Given the description of an element on the screen output the (x, y) to click on. 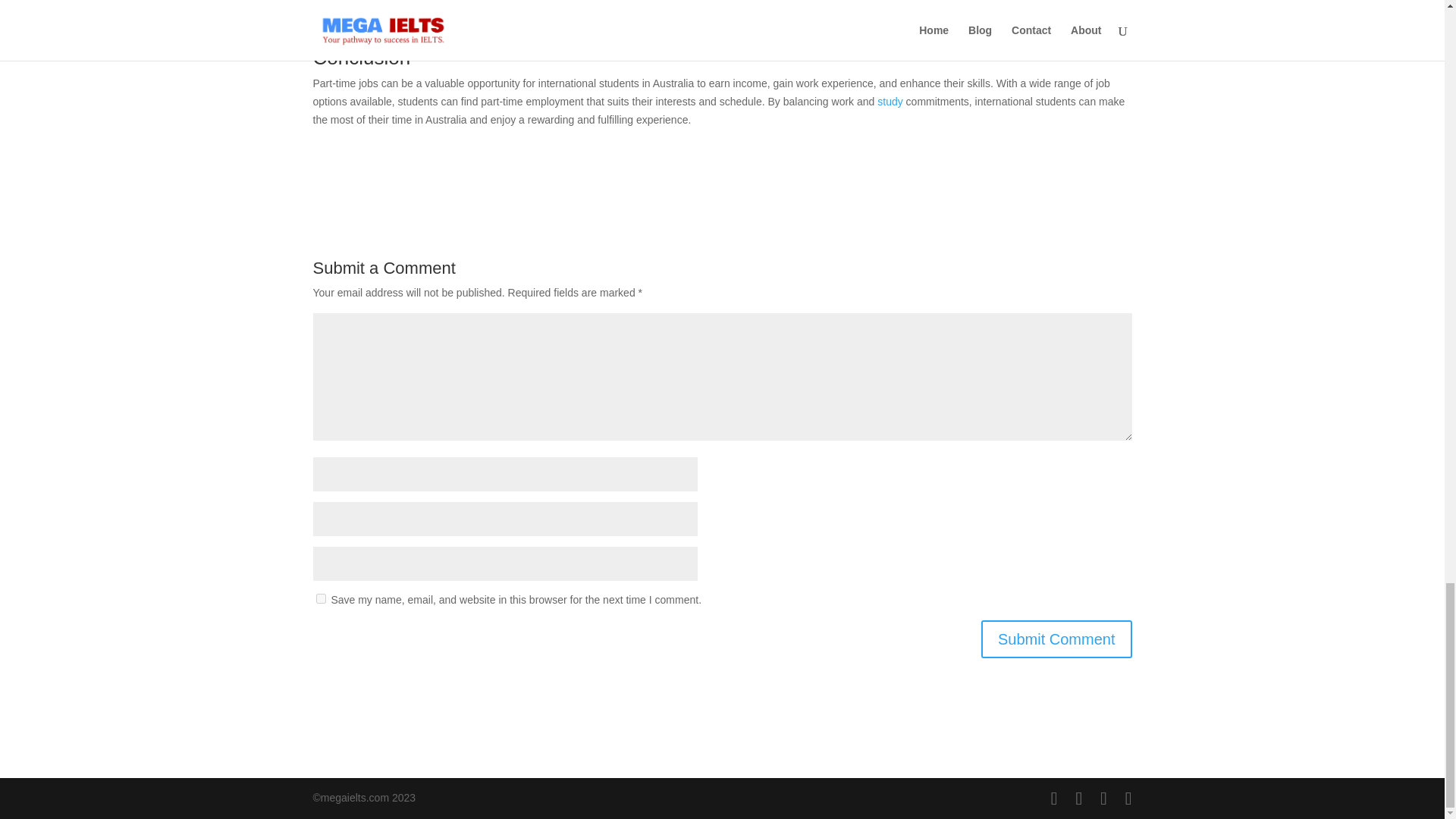
Submit Comment (1056, 638)
yes (319, 598)
Submit Comment (1056, 638)
study (888, 101)
